Given the description of an element on the screen output the (x, y) to click on. 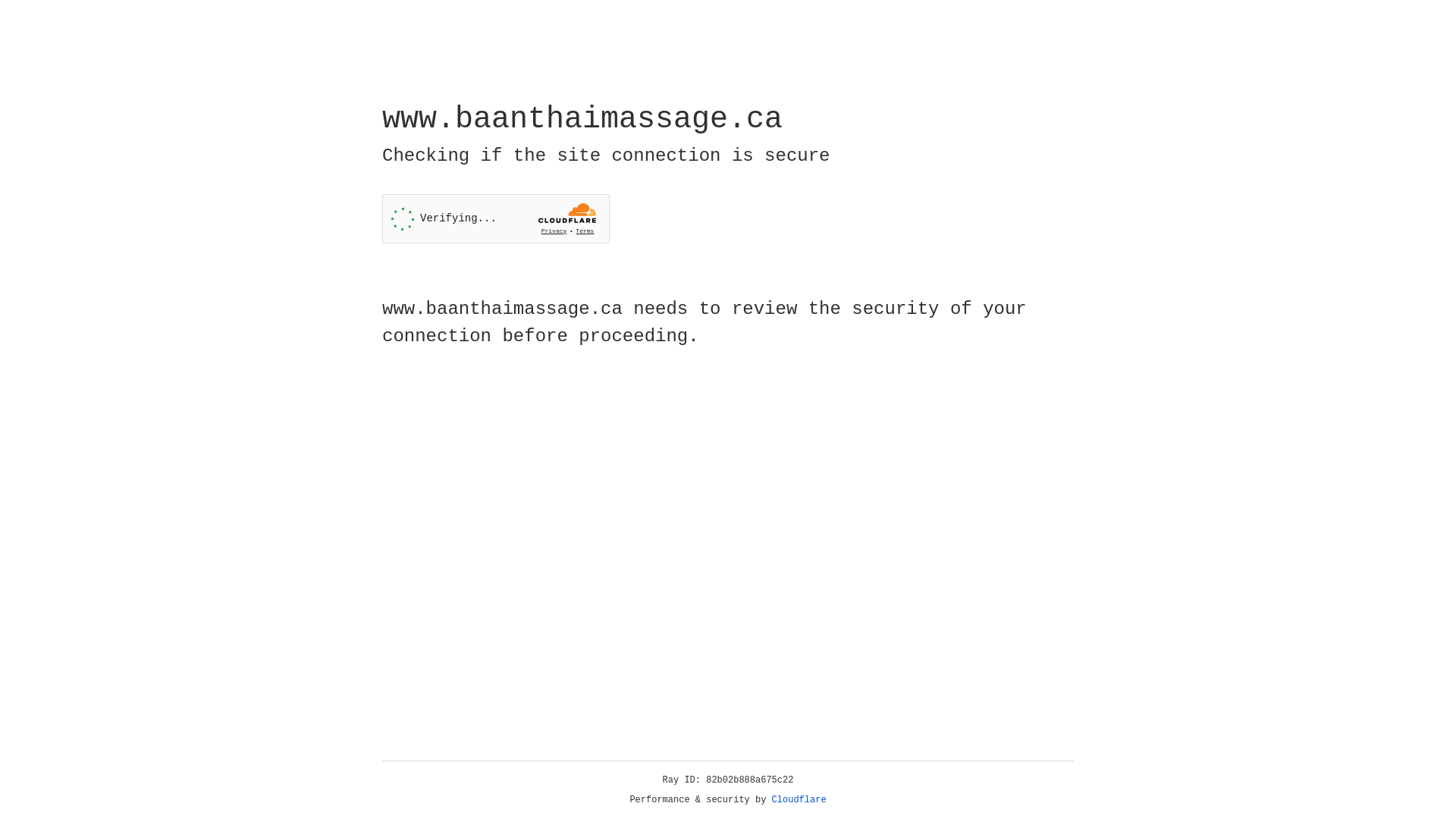
Widget containing a Cloudflare security challenge Element type: hover (495, 218)
Cloudflare Element type: text (798, 799)
